Given the description of an element on the screen output the (x, y) to click on. 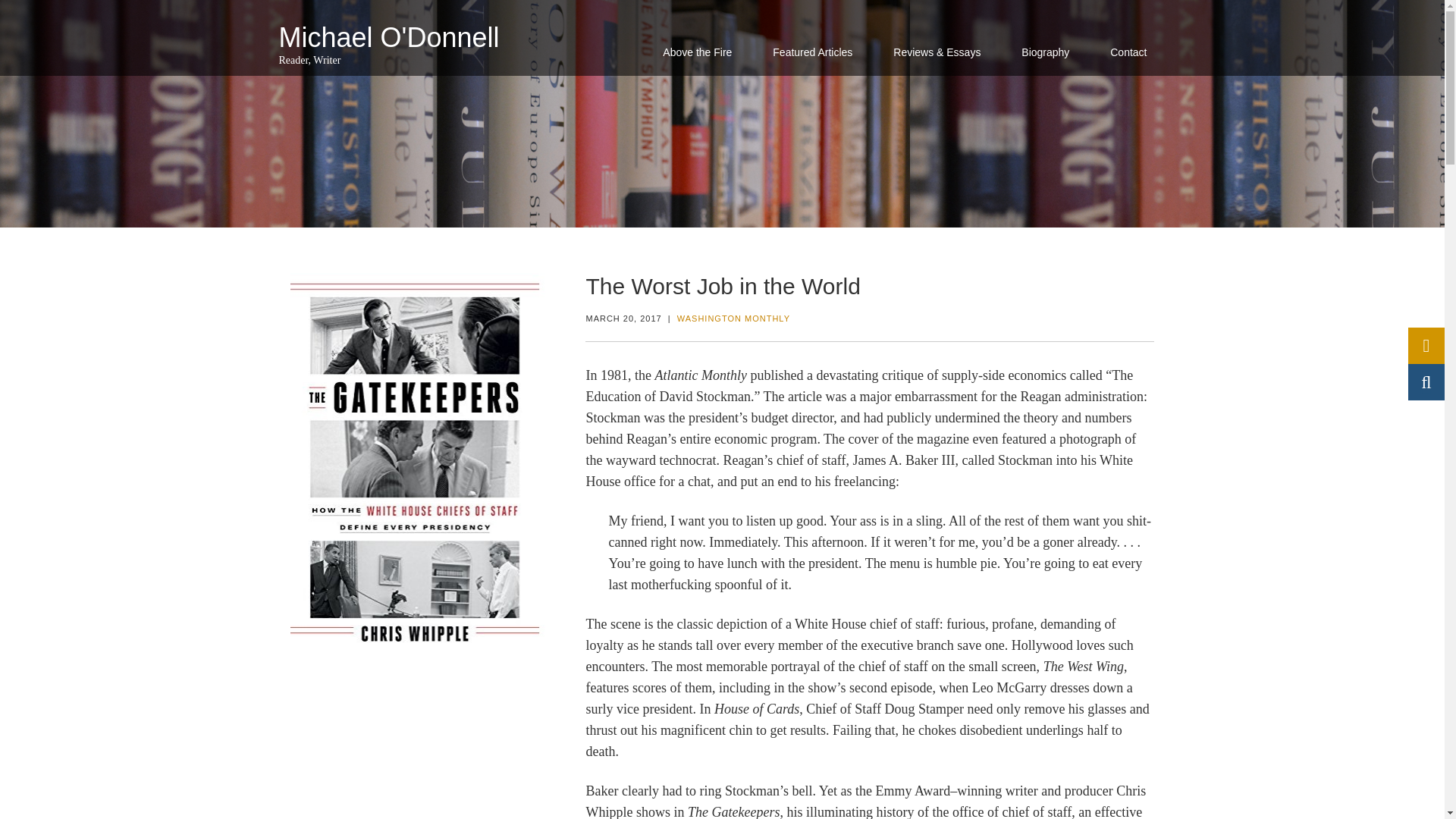
Contact (1127, 52)
Featured Articles (812, 52)
Michael O'Donnell (389, 37)
Above the Fire (697, 52)
Biography (1045, 52)
WASHINGTON MONTHLY (733, 317)
